Given the description of an element on the screen output the (x, y) to click on. 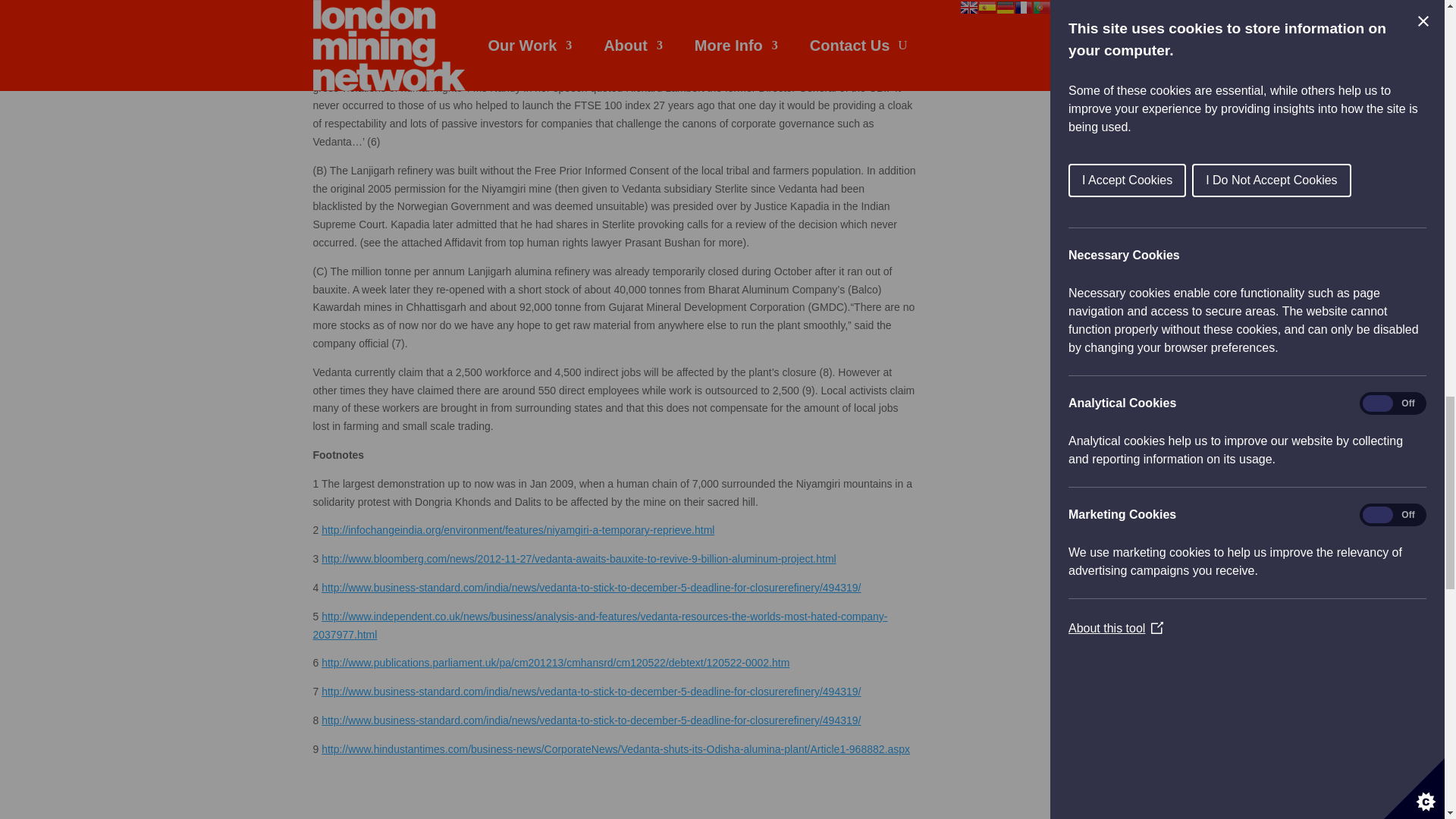
6th december 2012 vedanta protest at india house in aldwych (537, 794)
